Given the description of an element on the screen output the (x, y) to click on. 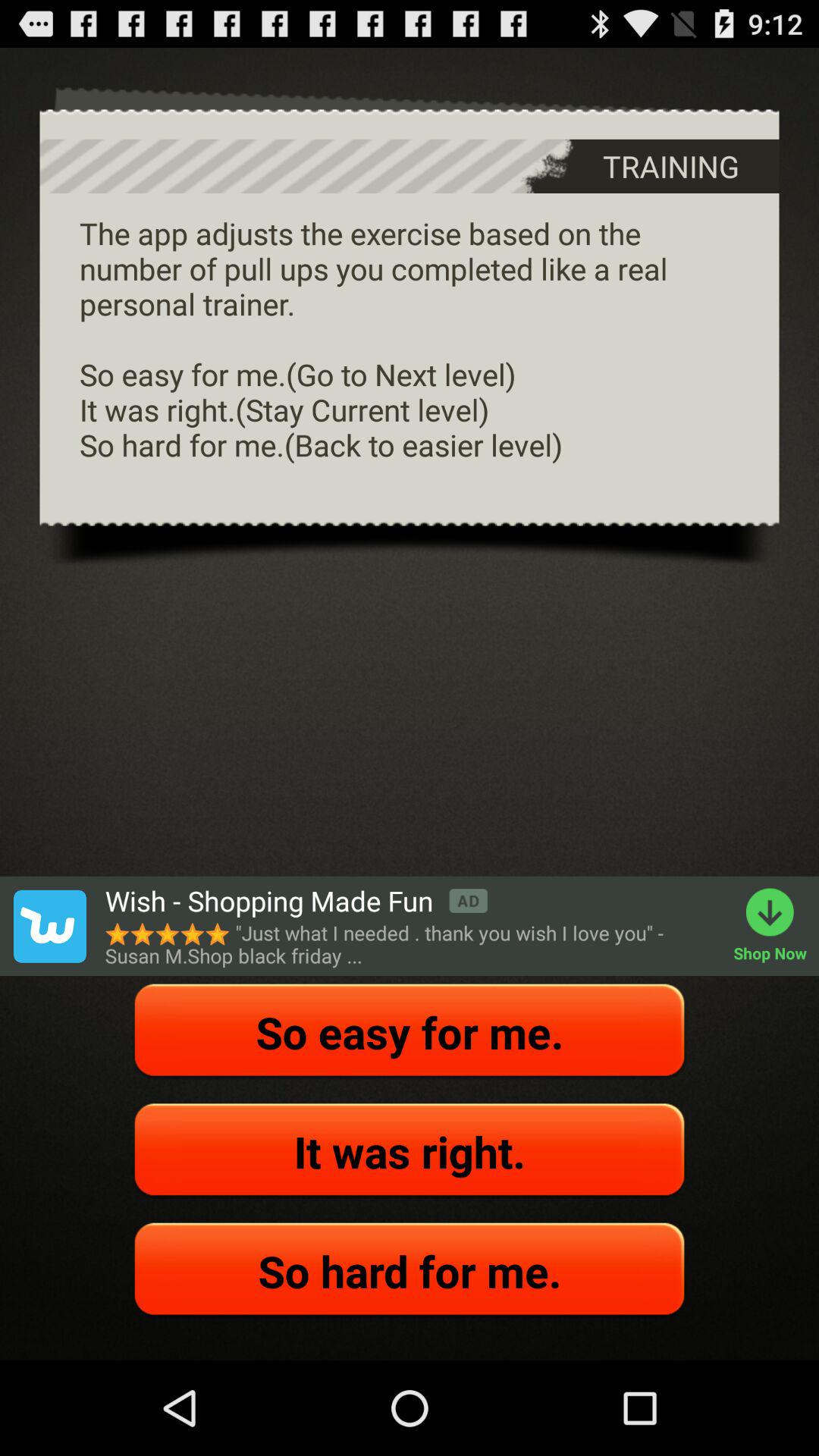
launch icon below the so easy for (409, 1151)
